Given the description of an element on the screen output the (x, y) to click on. 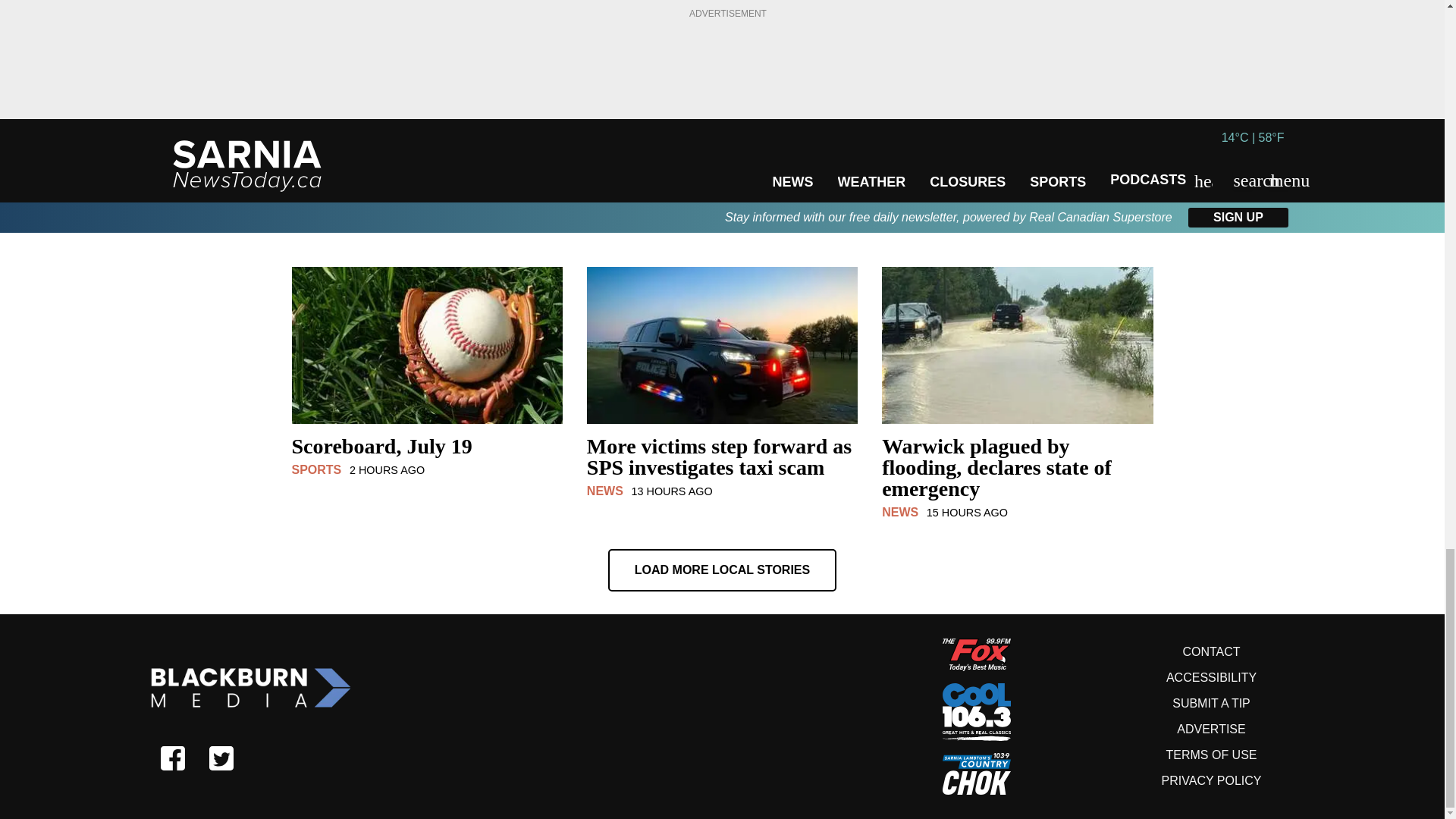
Crews battle early morning fire (426, 204)
